Given the description of an element on the screen output the (x, y) to click on. 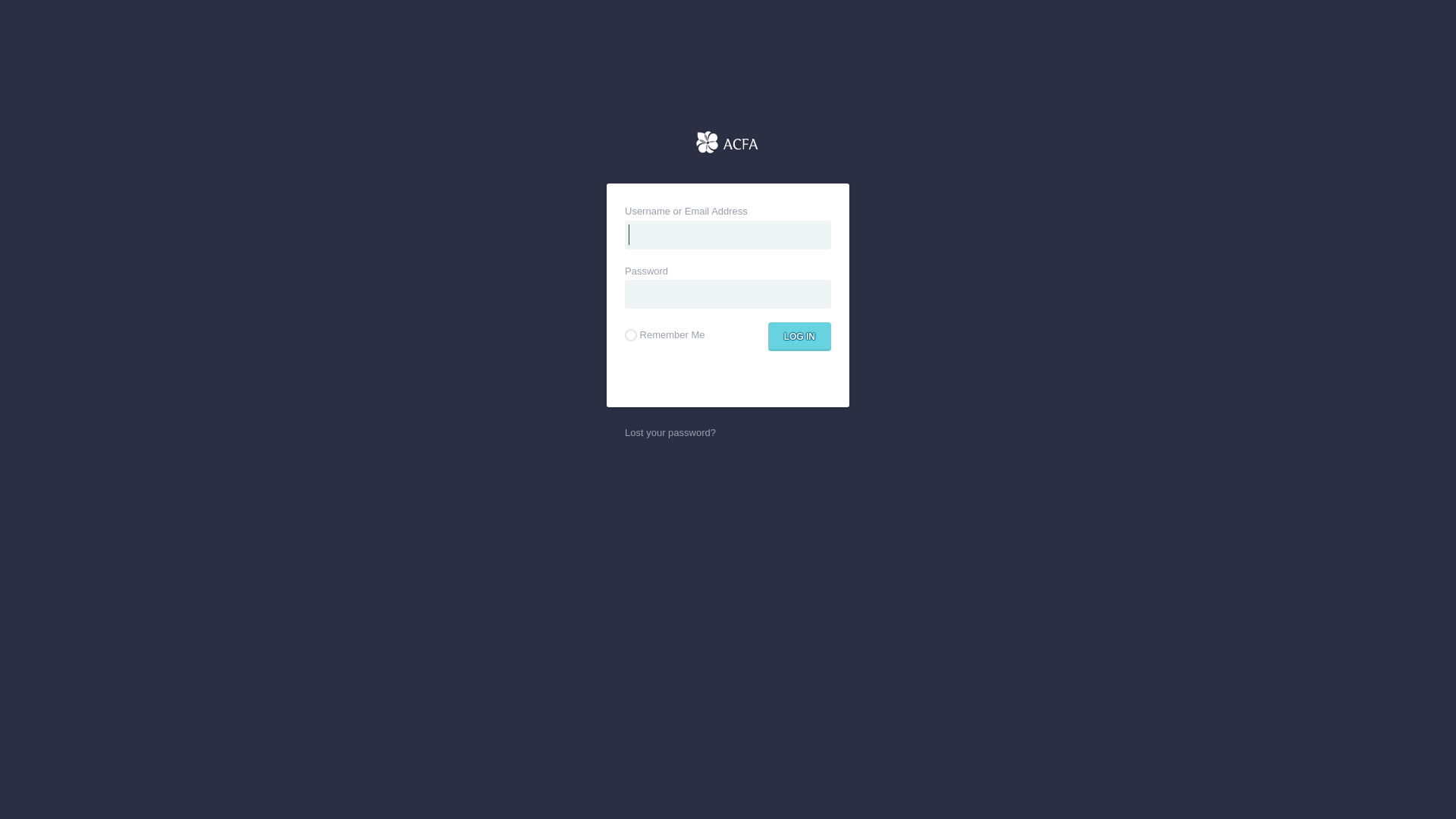
Powered by WordPress Element type: text (727, 142)
Log In Element type: text (799, 335)
Lost your password? Element type: text (669, 432)
